Given the description of an element on the screen output the (x, y) to click on. 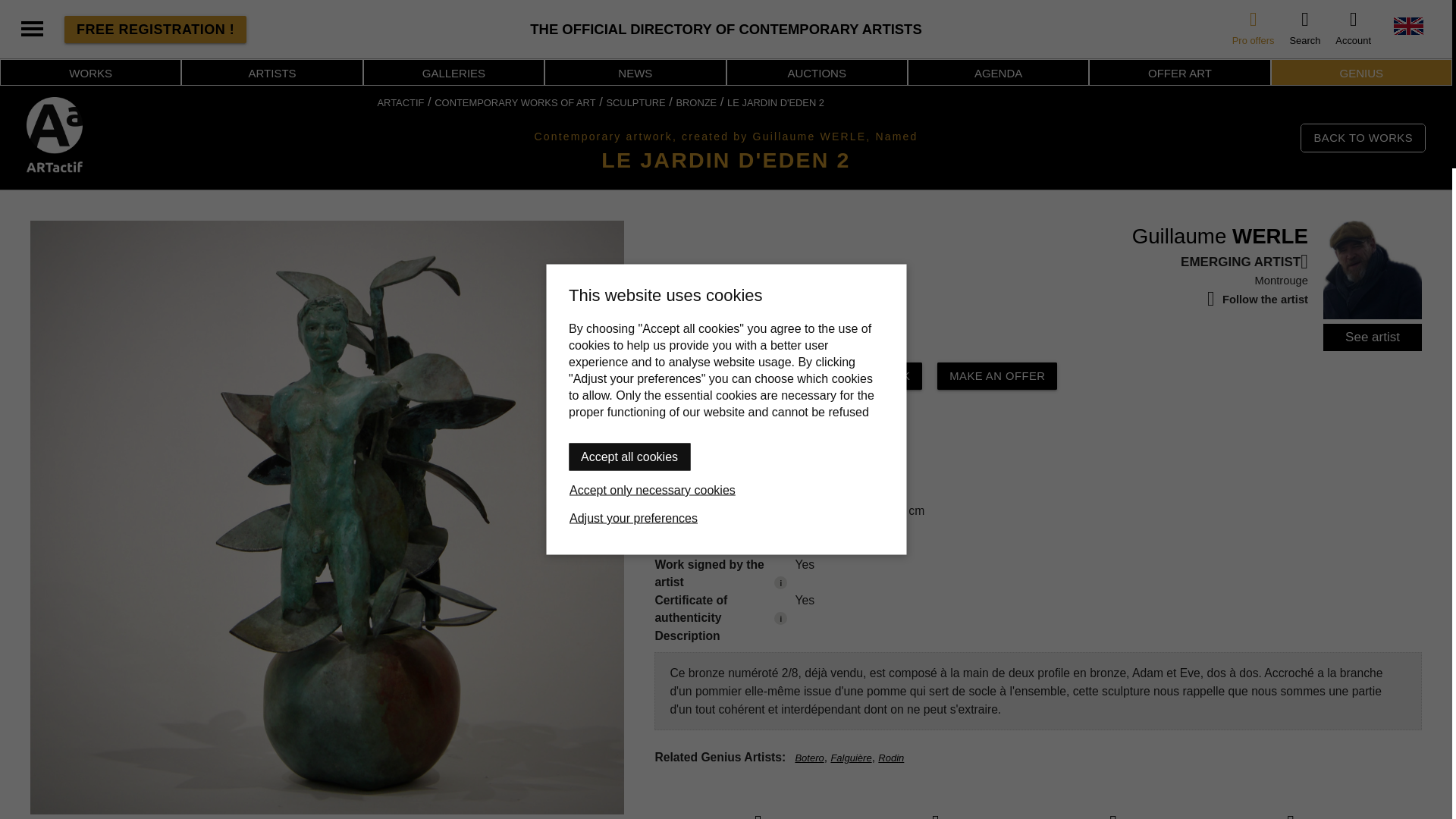
THE OFFICIAL DIRECTORY OF CONTEMPORARY ARTISTS (725, 29)
FREE REGISTRATION ! (155, 28)
